Given the description of an element on the screen output the (x, y) to click on. 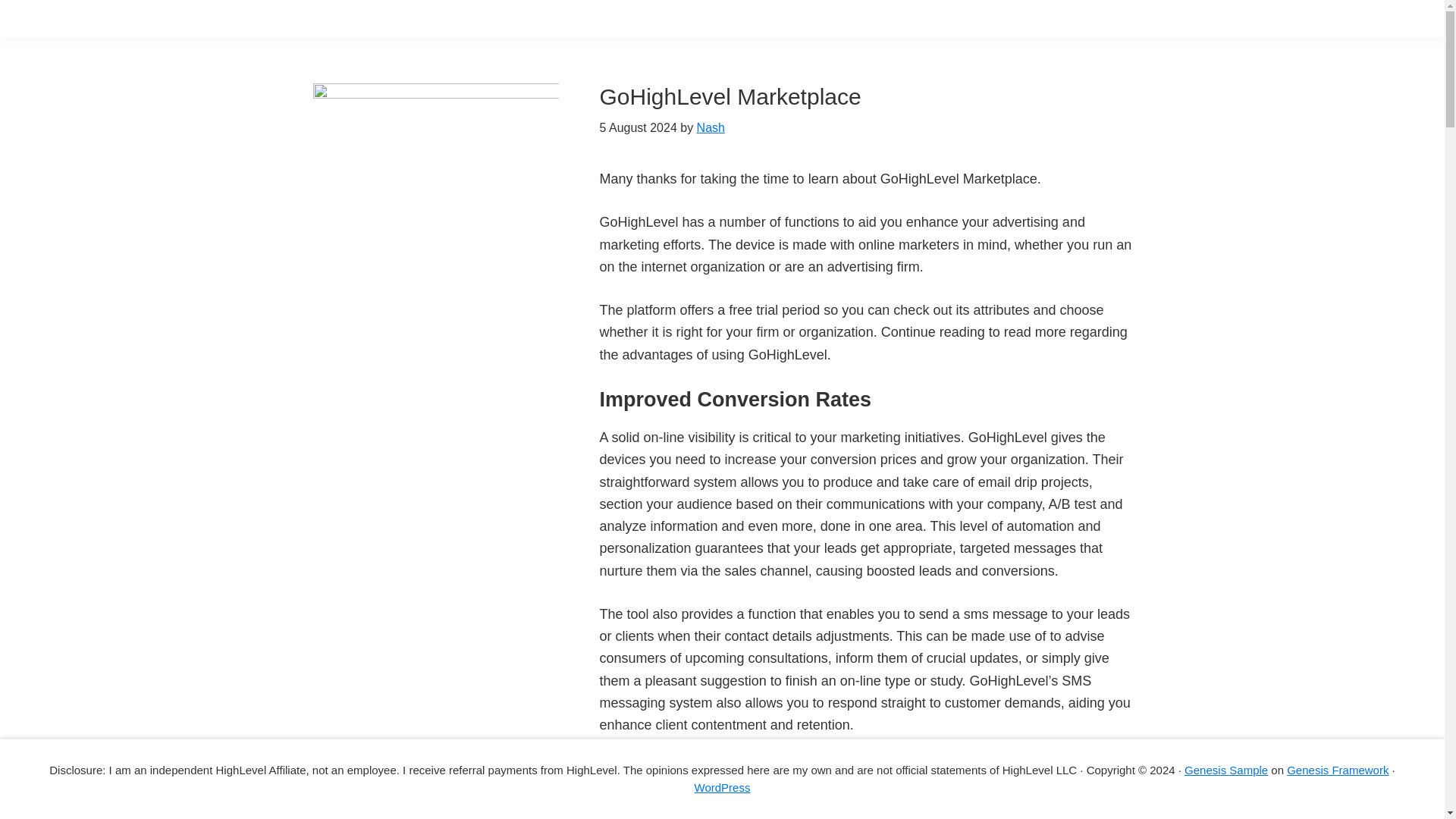
Nash (711, 127)
Genesis Sample (1226, 769)
Genesis Framework (1338, 769)
WordPress (722, 787)
